Given the description of an element on the screen output the (x, y) to click on. 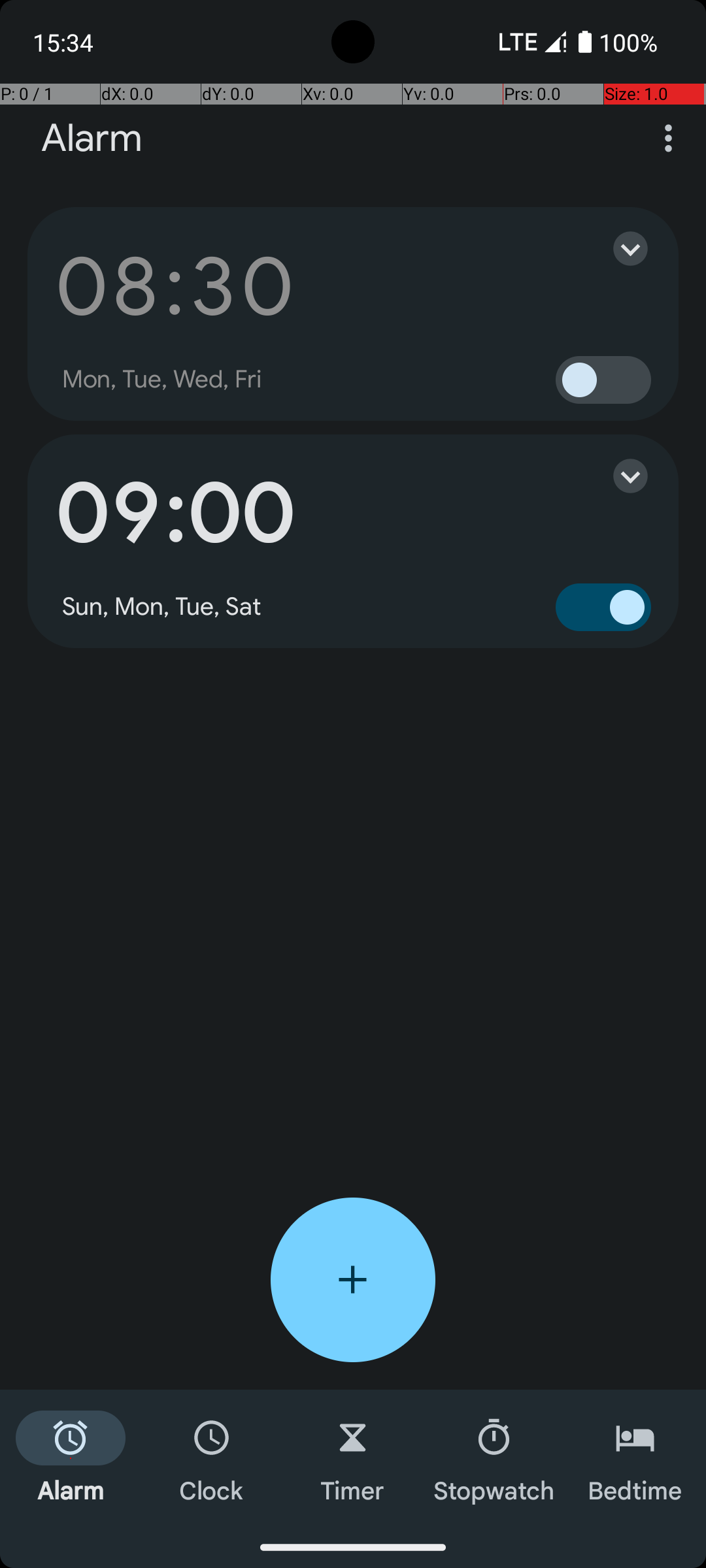
Mon, Tue, Wed, Fri Element type: android.widget.TextView (161, 379)
Sun, Mon, Tue, Sat Element type: android.widget.TextView (161, 606)
